Given the description of an element on the screen output the (x, y) to click on. 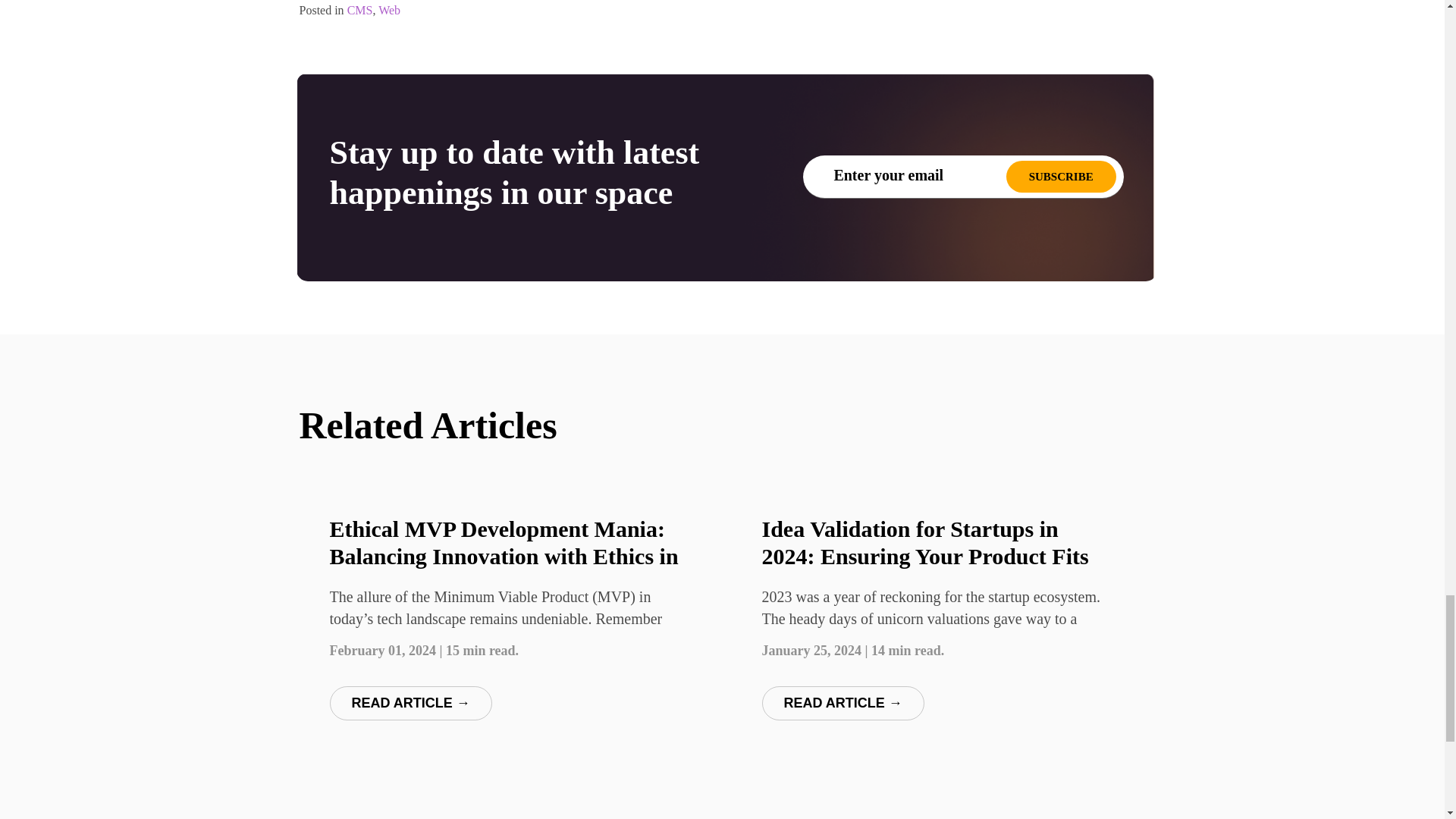
Subscribe (1061, 176)
